Given the description of an element on the screen output the (x, y) to click on. 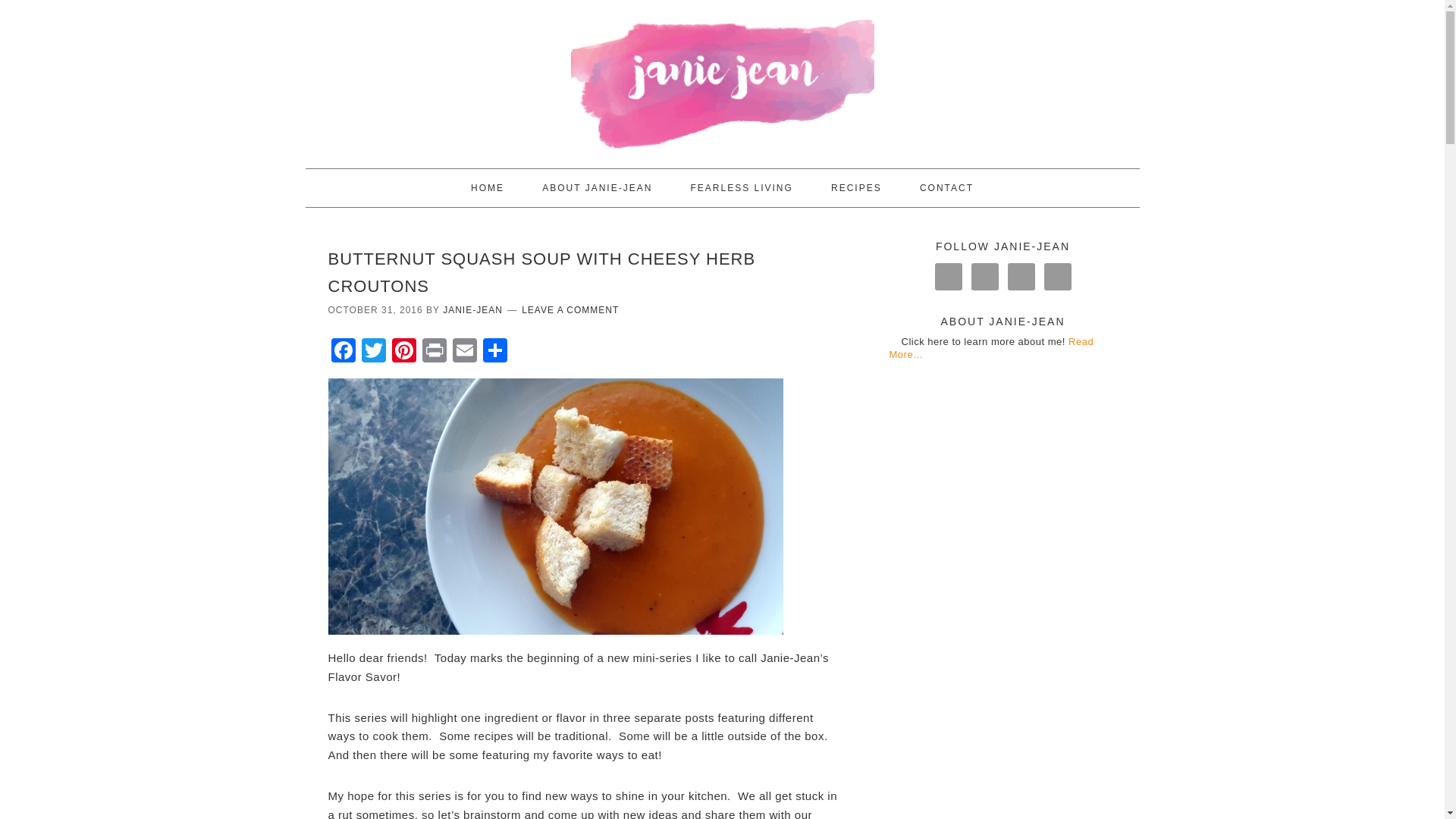
ABOUT JANIE-JEAN (596, 187)
RECIPES (855, 187)
CONTACT (946, 187)
Share (494, 352)
Email (463, 352)
JANIE-JEAN (721, 77)
JANIE-JEAN (472, 309)
Pinterest (403, 352)
Print (433, 352)
LEAVE A COMMENT (569, 309)
Facebook (342, 352)
Facebook (342, 352)
Twitter (373, 352)
FEARLESS LIVING (740, 187)
Print (433, 352)
